Given the description of an element on the screen output the (x, y) to click on. 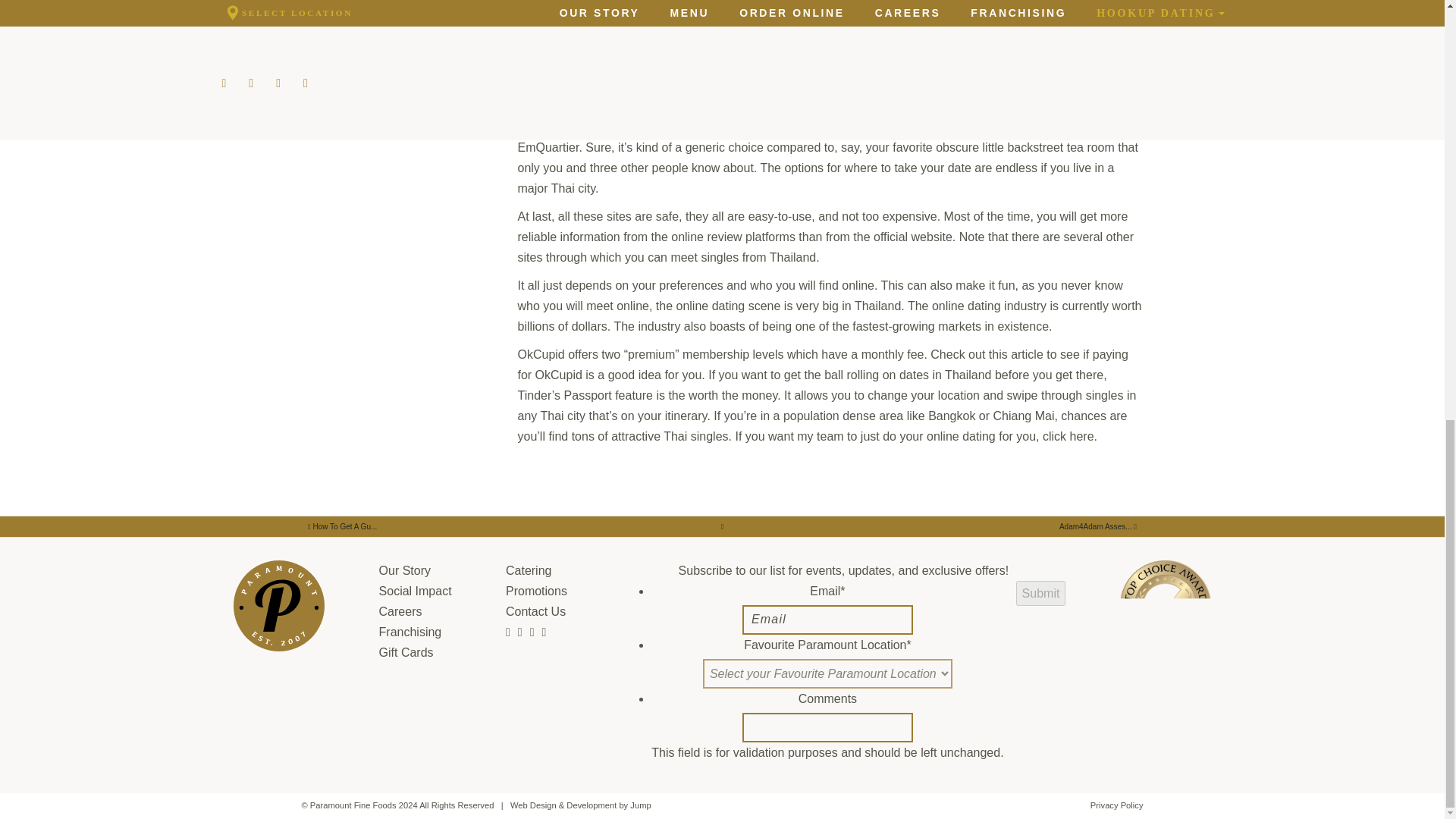
How To Get A Gu... (342, 526)
Submit (1040, 593)
Next Post (342, 526)
Previous Post (1097, 526)
Adam4Adam Asses... (1097, 526)
